Given the description of an element on the screen output the (x, y) to click on. 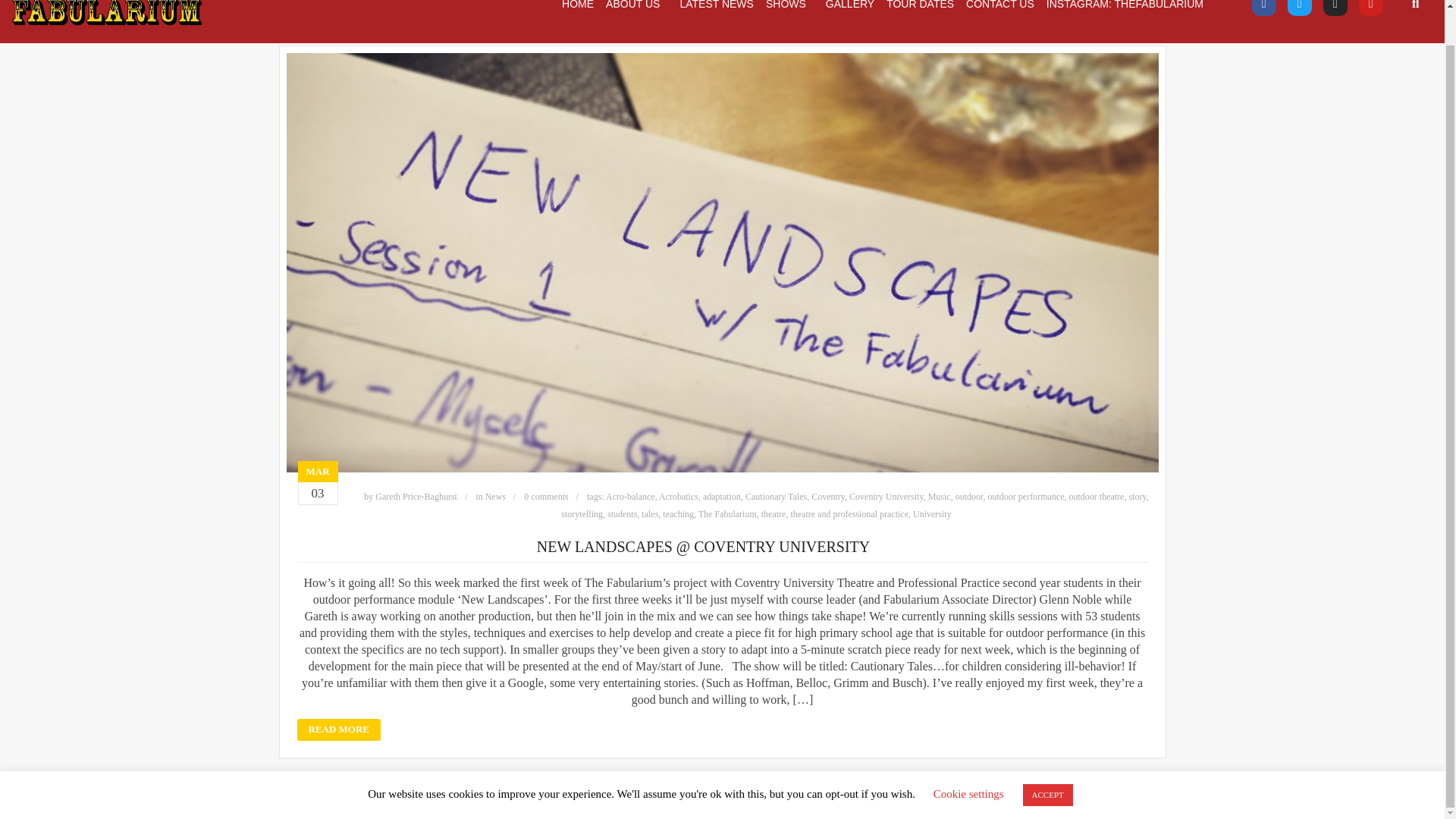
LATEST NEWS (716, 5)
TOUR DATES (919, 5)
INSTAGRAM: THEFABULARIUM (1125, 5)
ABOUT US (635, 5)
SHOWS (789, 5)
CONTACT US (1000, 5)
GALLERY (849, 5)
HOME (577, 5)
